Given the description of an element on the screen output the (x, y) to click on. 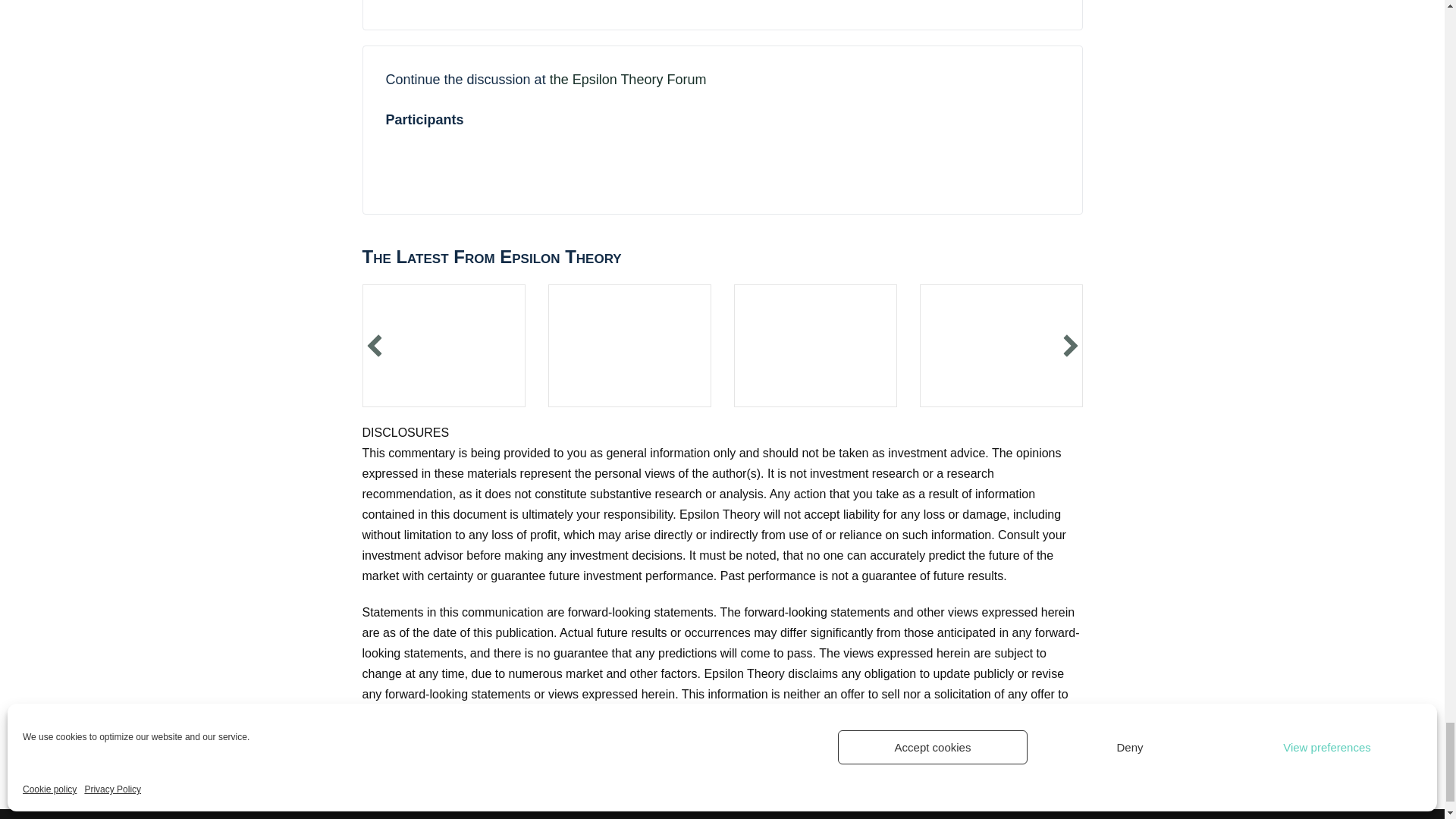
Kyla fau nationality 4-3 small (814, 345)
